Given the description of an element on the screen output the (x, y) to click on. 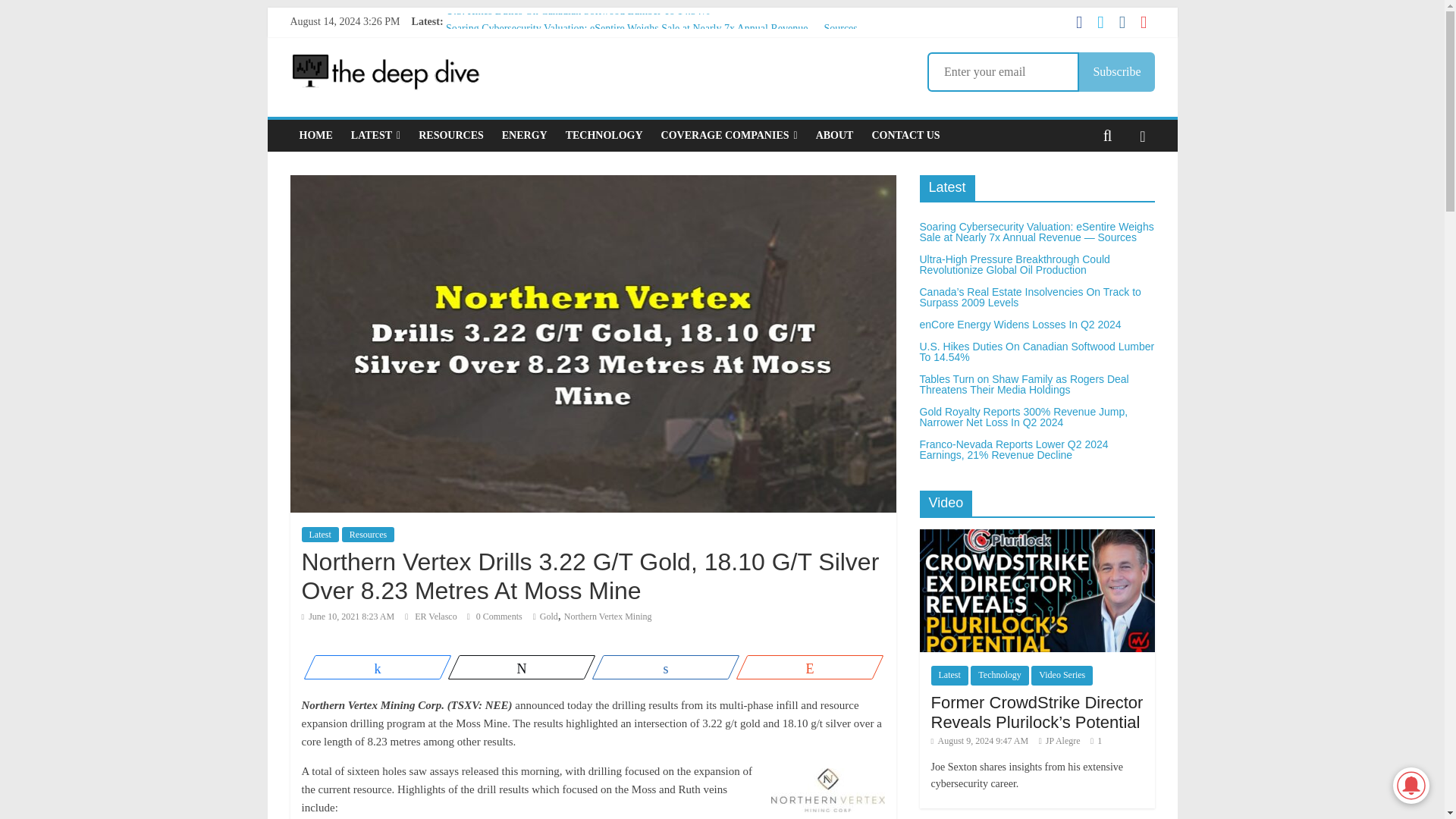
enCore Energy Widens Losses In Q2 2024 (535, 79)
ENERGY (524, 135)
HOME (314, 135)
LATEST (375, 135)
TECHNOLOGY (604, 135)
COVERAGE COMPANIES (729, 135)
enCore Energy Widens Losses In Q2 2024 (535, 79)
8:23 am (347, 615)
